Given the description of an element on the screen output the (x, y) to click on. 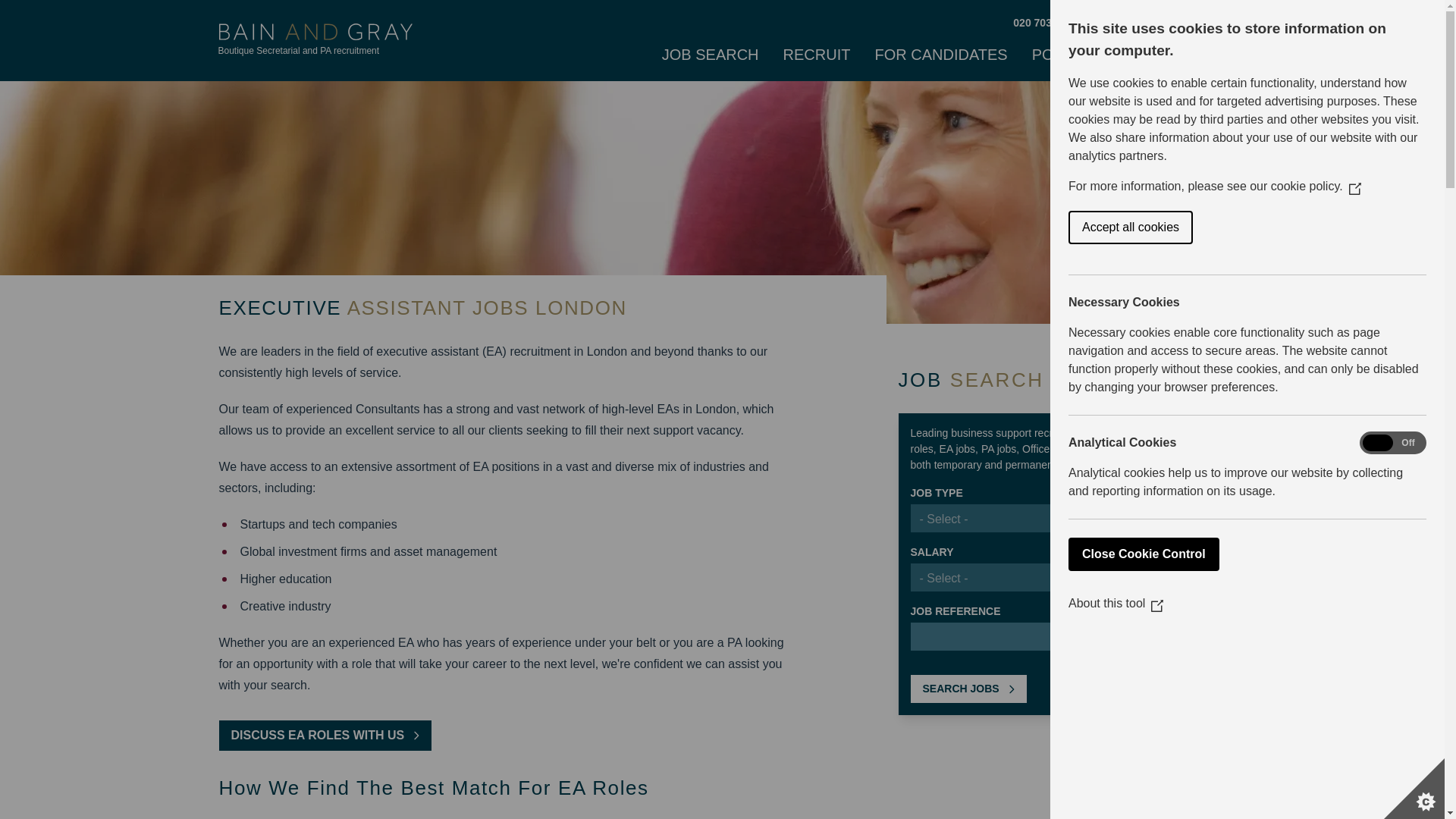
RECRUIT (816, 55)
CONTACT US (1131, 23)
Open burger menu (1210, 51)
FOR CANDIDATES (941, 55)
020 7036 2030 (1048, 23)
Close Cookie Control (1342, 553)
PODCASTS (1073, 55)
LINKS (1161, 55)
Home (315, 39)
Boutique Secretarial and PA recruitment (315, 39)
JOB SEARCH (710, 55)
